Given the description of an element on the screen output the (x, y) to click on. 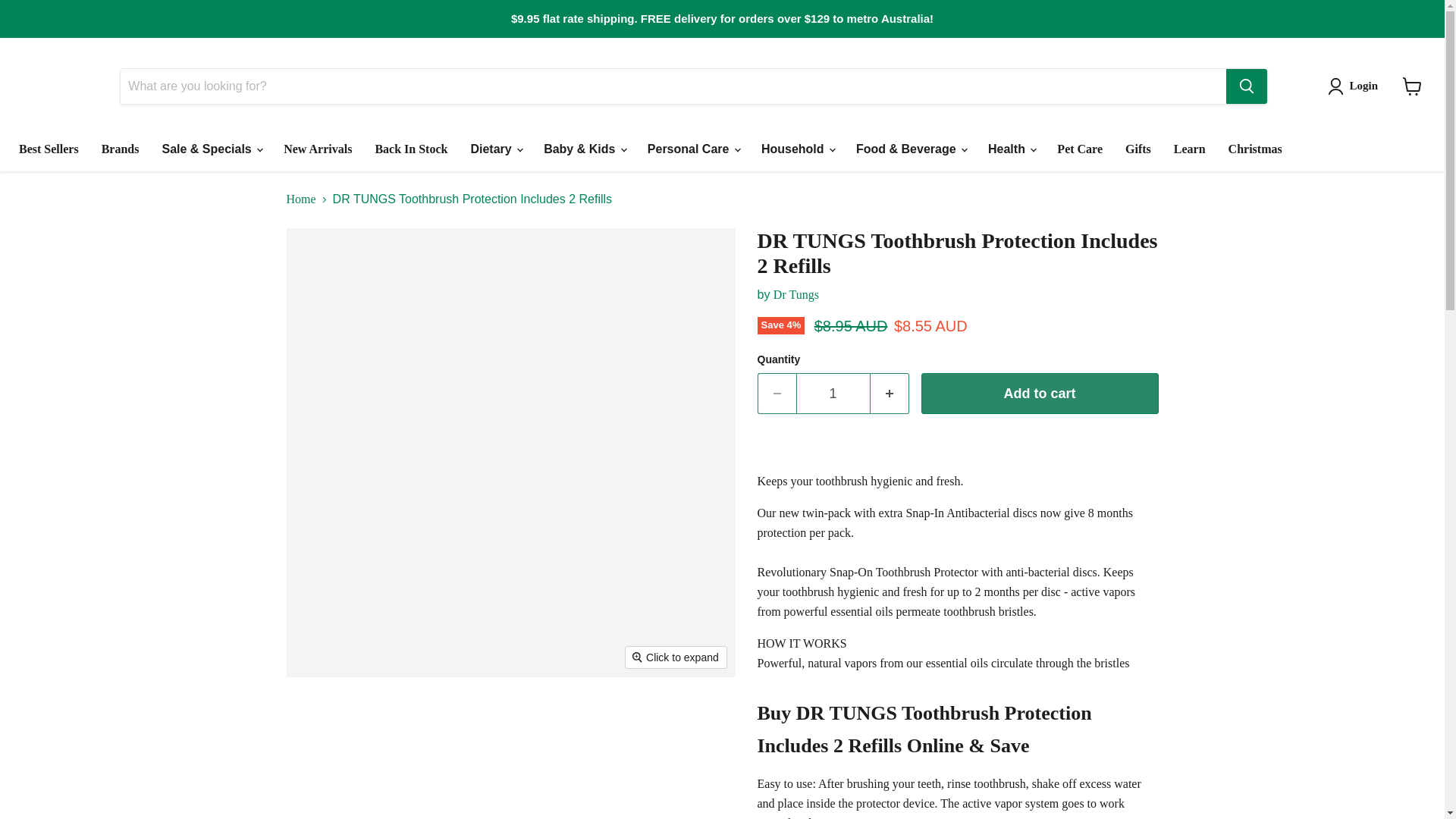
View cart (1411, 86)
Back In Stock (410, 149)
Dr Tungs (795, 294)
Best Sellers (48, 149)
Login (1355, 85)
1 (833, 393)
New Arrivals (317, 149)
Brands (120, 149)
